Given the description of an element on the screen output the (x, y) to click on. 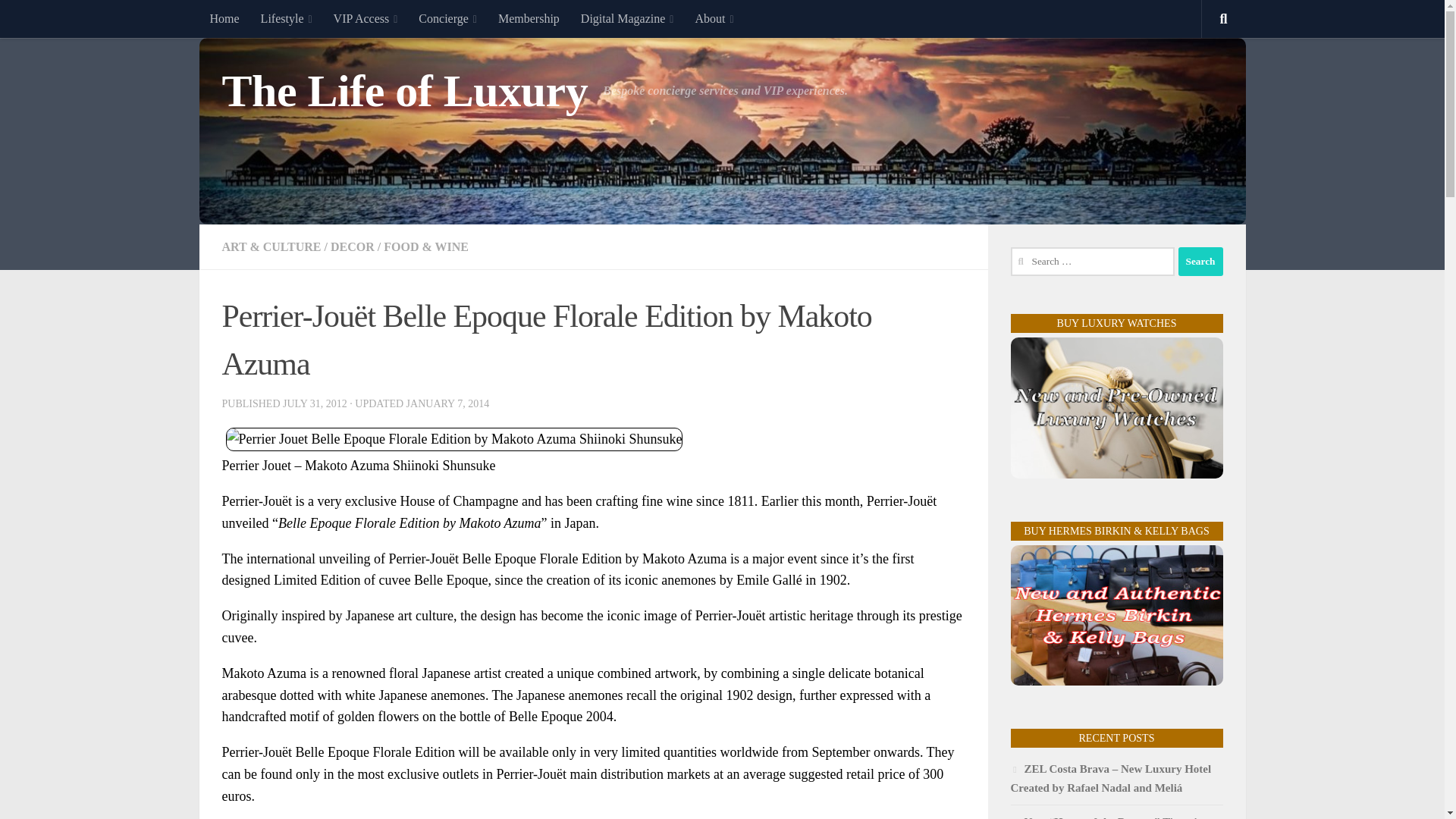
Skip to content (59, 20)
Search (1200, 261)
Search (1200, 261)
